Given the description of an element on the screen output the (x, y) to click on. 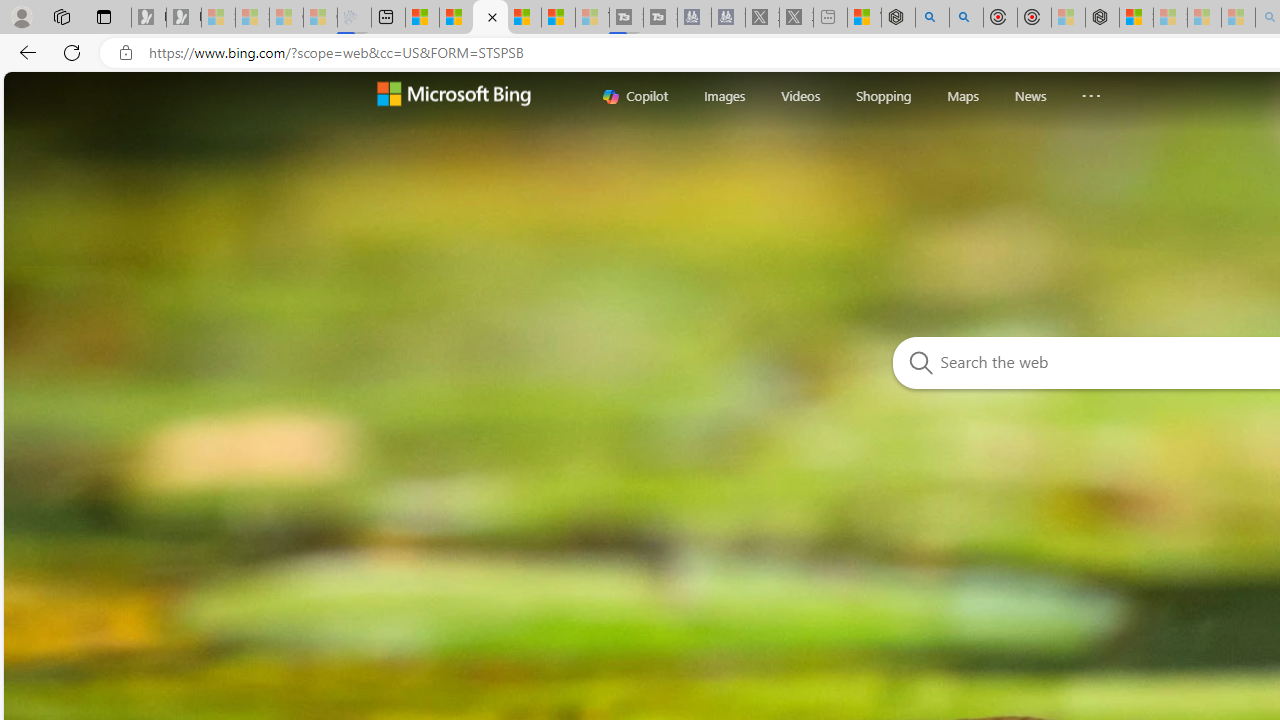
Class: scopes  (868, 95)
